Given the description of an element on the screen output the (x, y) to click on. 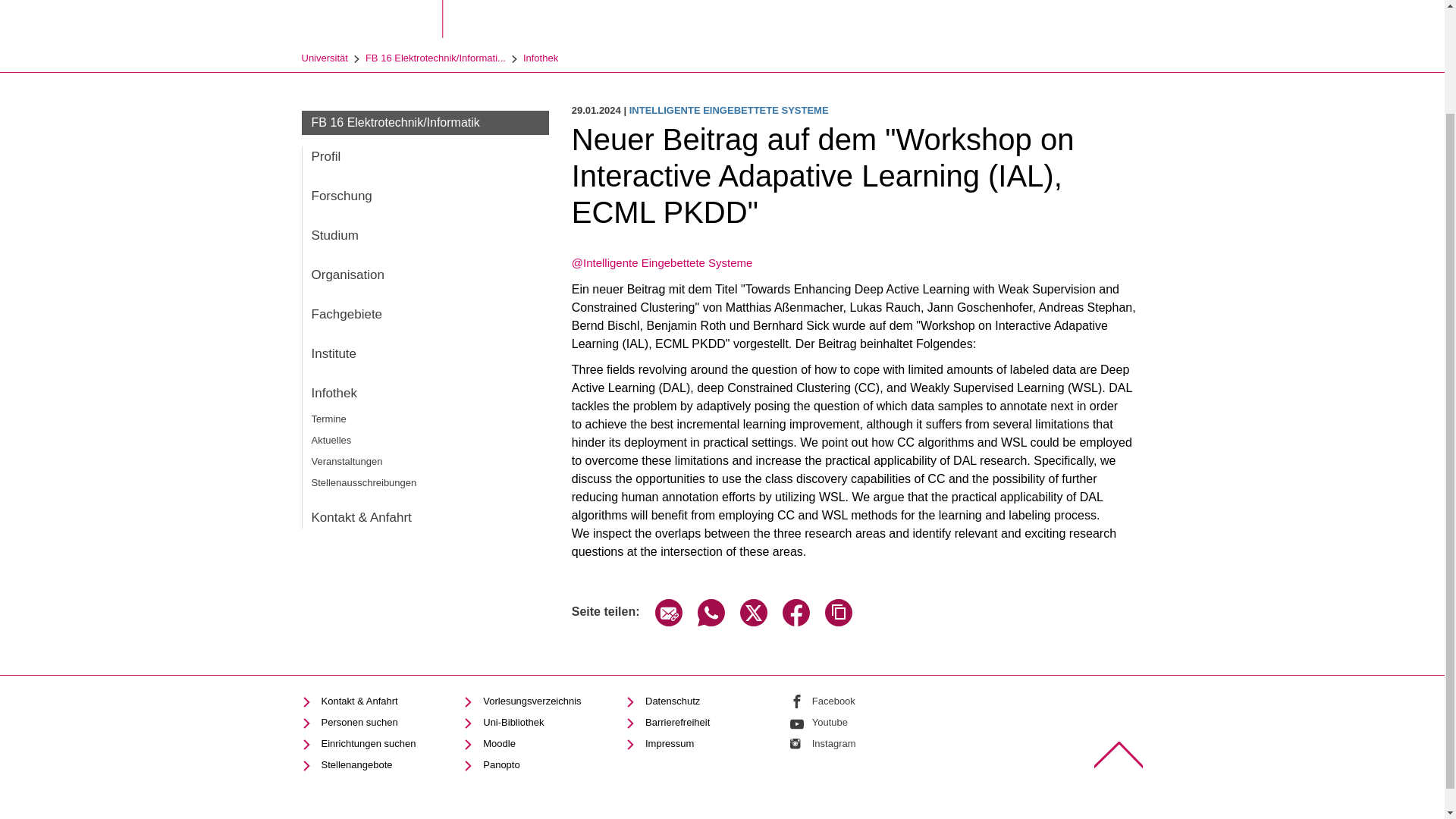
Personen suchen (349, 722)
Forschung (424, 196)
Infothek (539, 57)
Fachgebiete (424, 314)
Termine (424, 419)
Profil (424, 156)
Adresse der Seite kopieren (838, 621)
Veranstaltungen (424, 461)
Stellenausschreibungen (424, 482)
Aktuelles (424, 440)
